Given the description of an element on the screen output the (x, y) to click on. 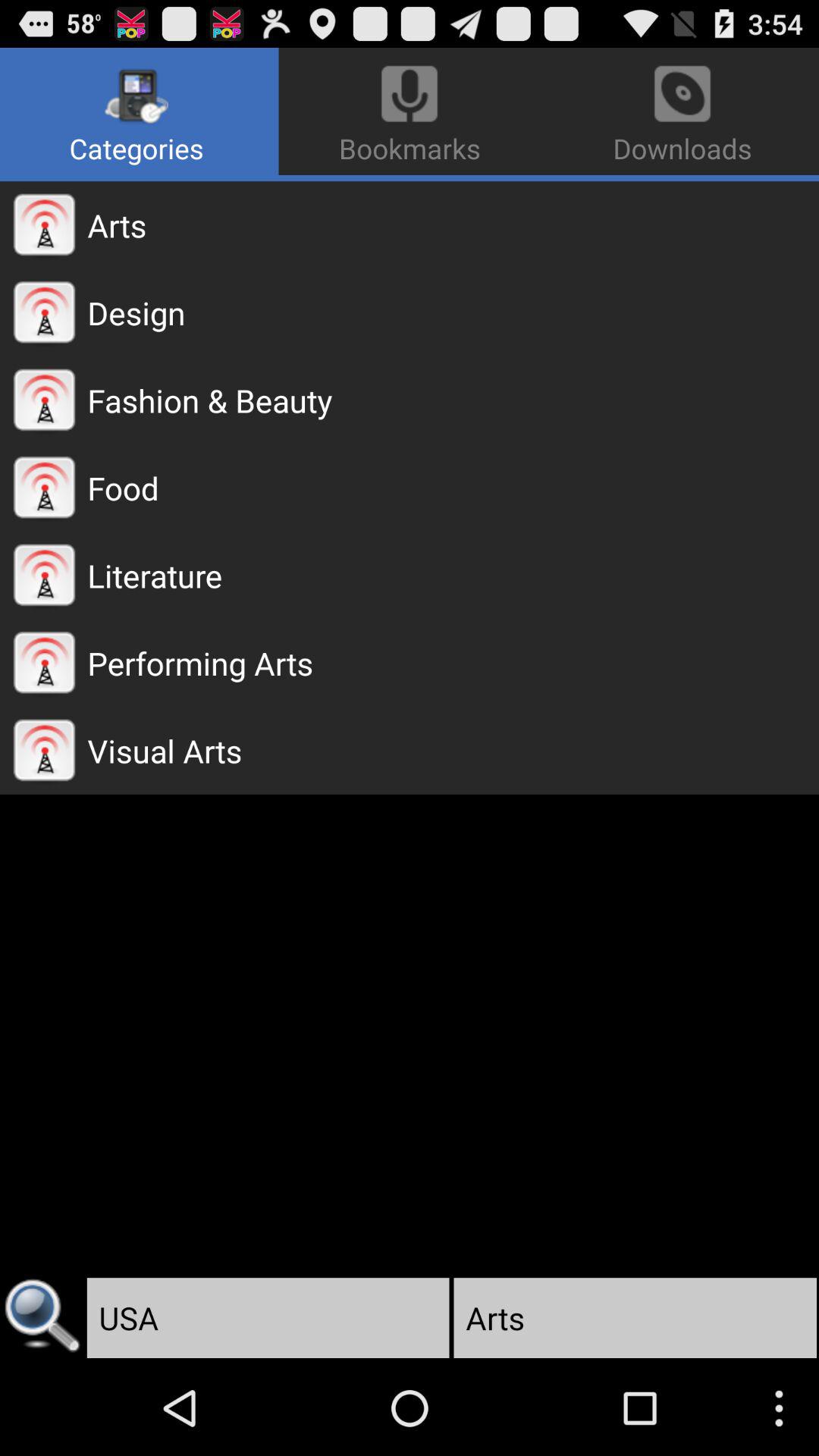
choose icon next to the usa app (42, 1317)
